Given the description of an element on the screen output the (x, y) to click on. 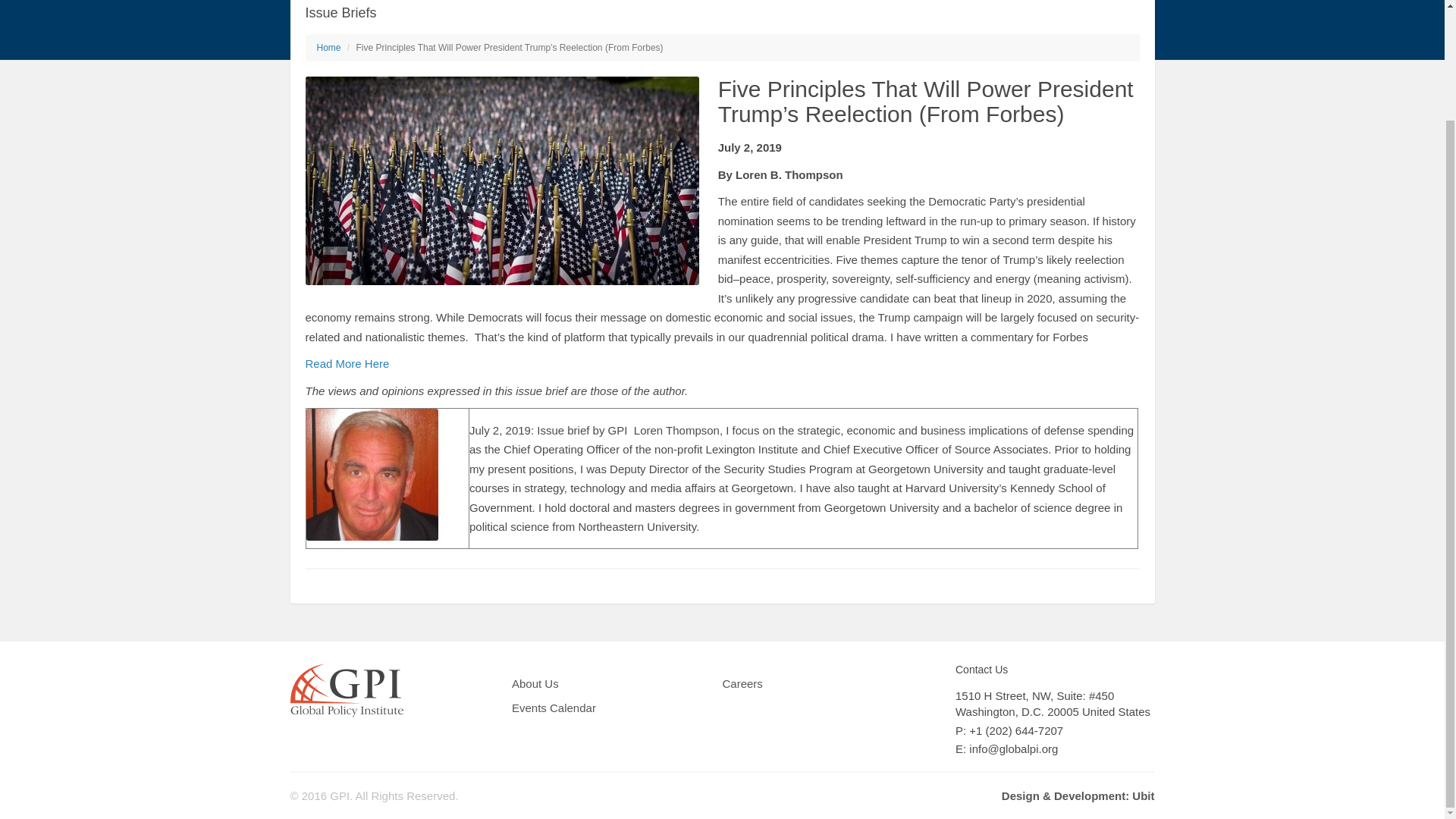
Events Calendar (555, 709)
Read More Here (346, 363)
Careers (743, 685)
About Us (537, 685)
Home (328, 47)
